Given the description of an element on the screen output the (x, y) to click on. 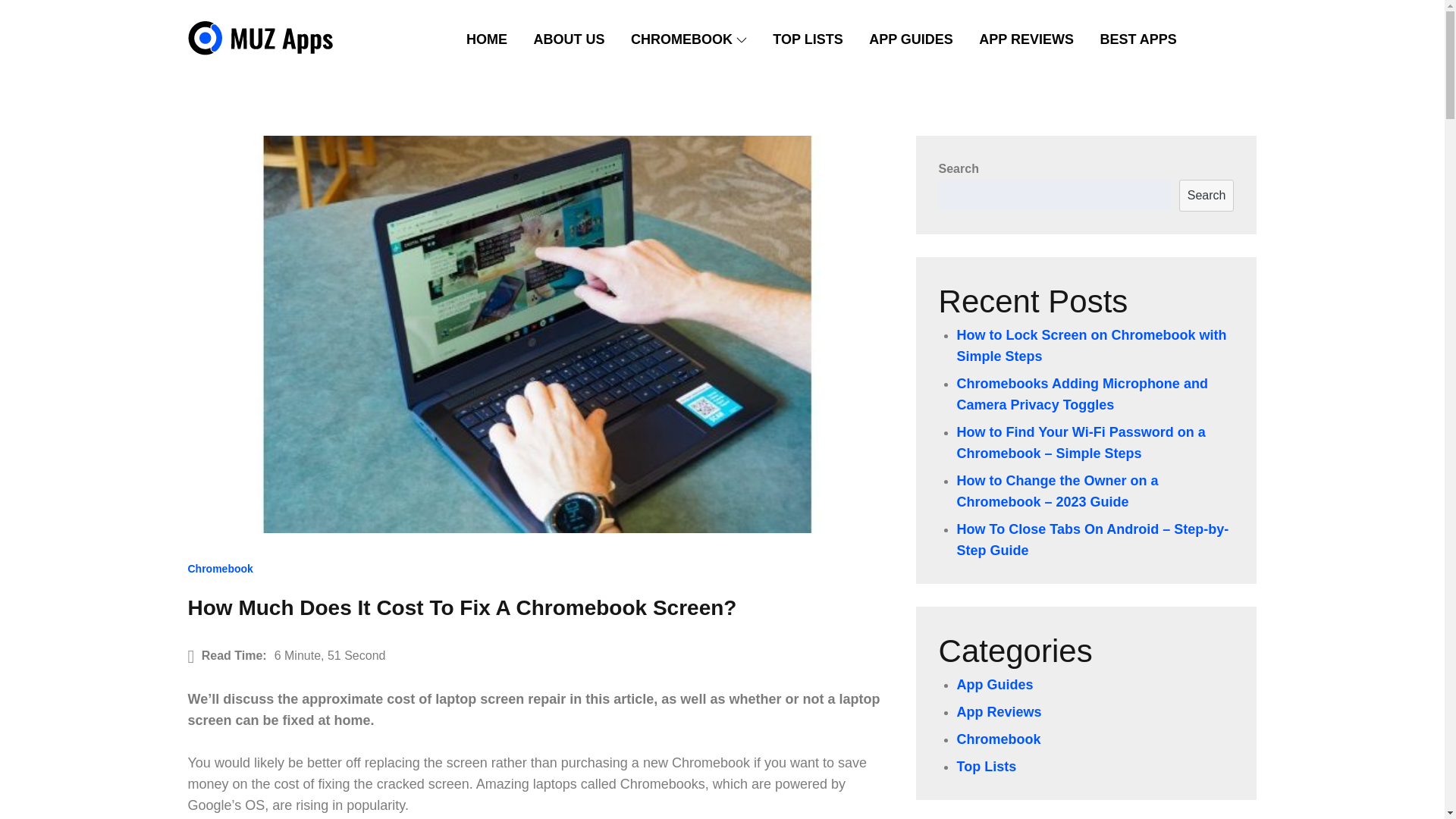
ABOUT US (568, 39)
CHROMEBOOK (689, 39)
HOME (486, 39)
How Much Does It Cost To Fix A Chromebook Screen? (461, 607)
APP GUIDES (910, 39)
BEST APPS (1137, 39)
TOP LISTS (807, 39)
APP REVIEWS (1026, 39)
Chromebook (220, 568)
MUZ Apps (258, 84)
